Given the description of an element on the screen output the (x, y) to click on. 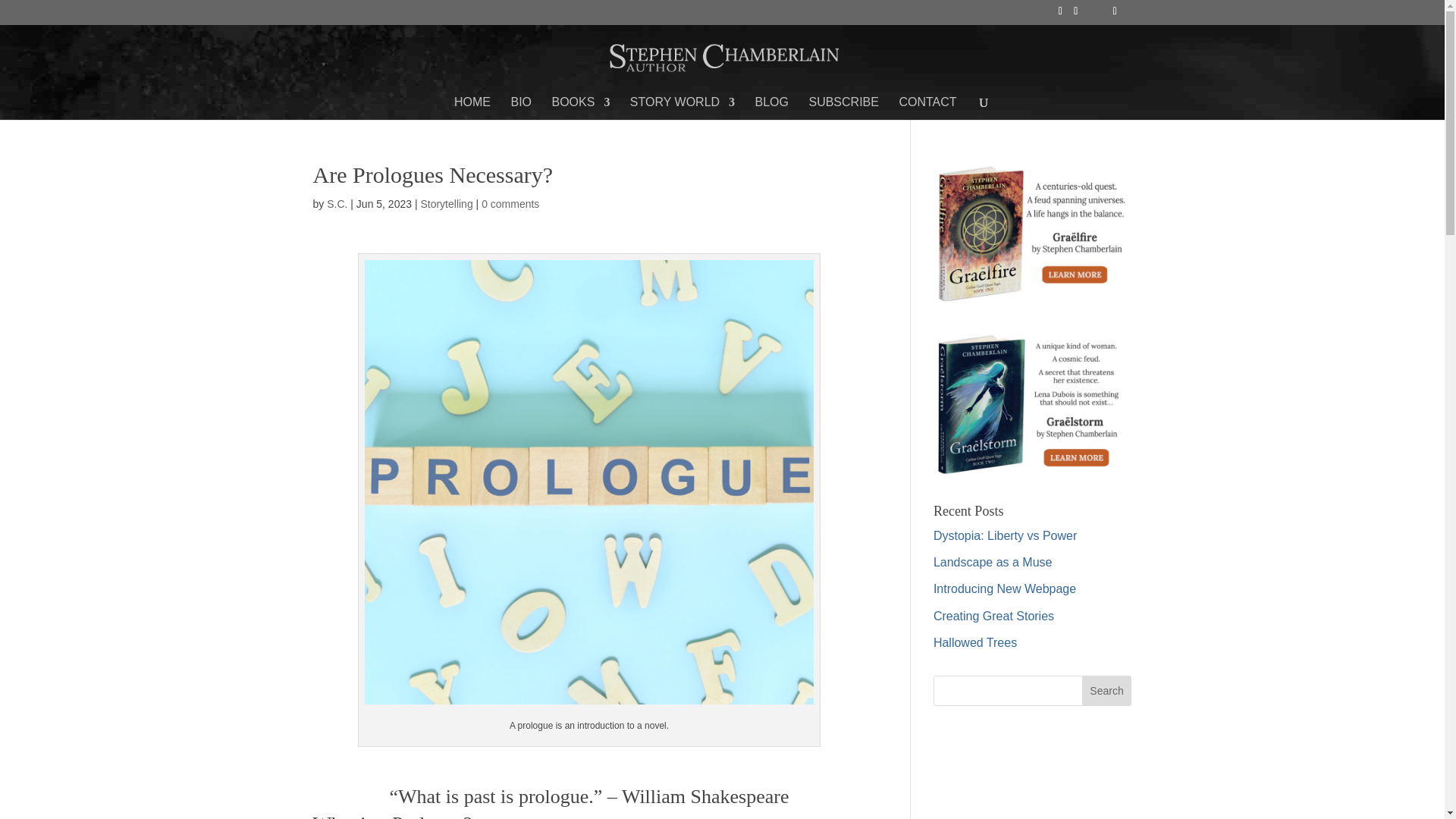
SUBSCRIBE (842, 108)
BOOKS (580, 108)
BLOG (772, 108)
Posts by S.C. (336, 203)
BIO (521, 108)
S.C. (336, 203)
0 comments (509, 203)
HOME (472, 108)
Storytelling (445, 203)
CONTACT (927, 108)
Search (1106, 690)
STORY WORLD (682, 108)
